Given the description of an element on the screen output the (x, y) to click on. 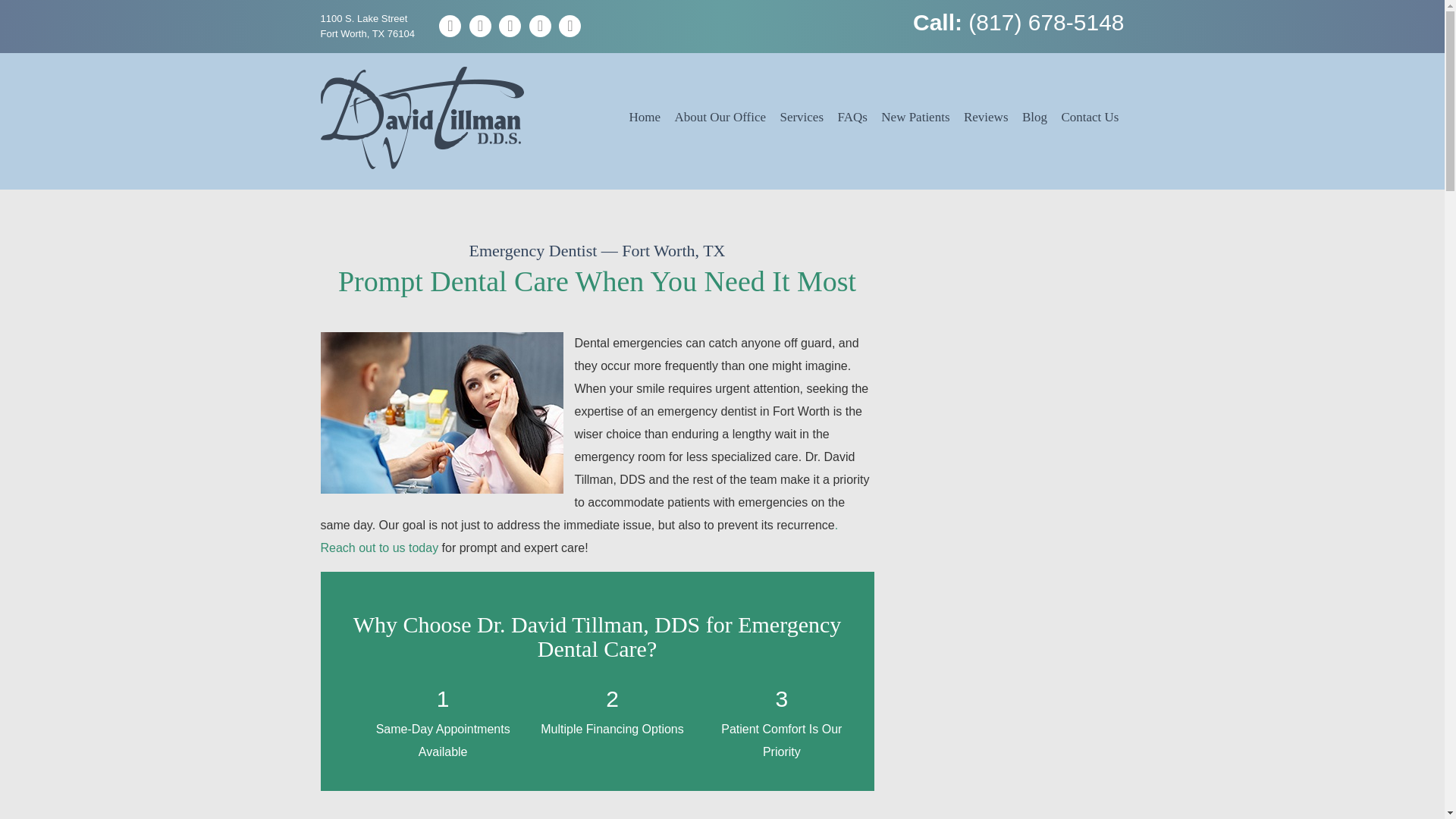
New Patients (915, 117)
About Our Office (719, 117)
Dental Services Fort Worth (801, 117)
Dental Office Fort Worth (719, 117)
Services (801, 117)
